Given the description of an element on the screen output the (x, y) to click on. 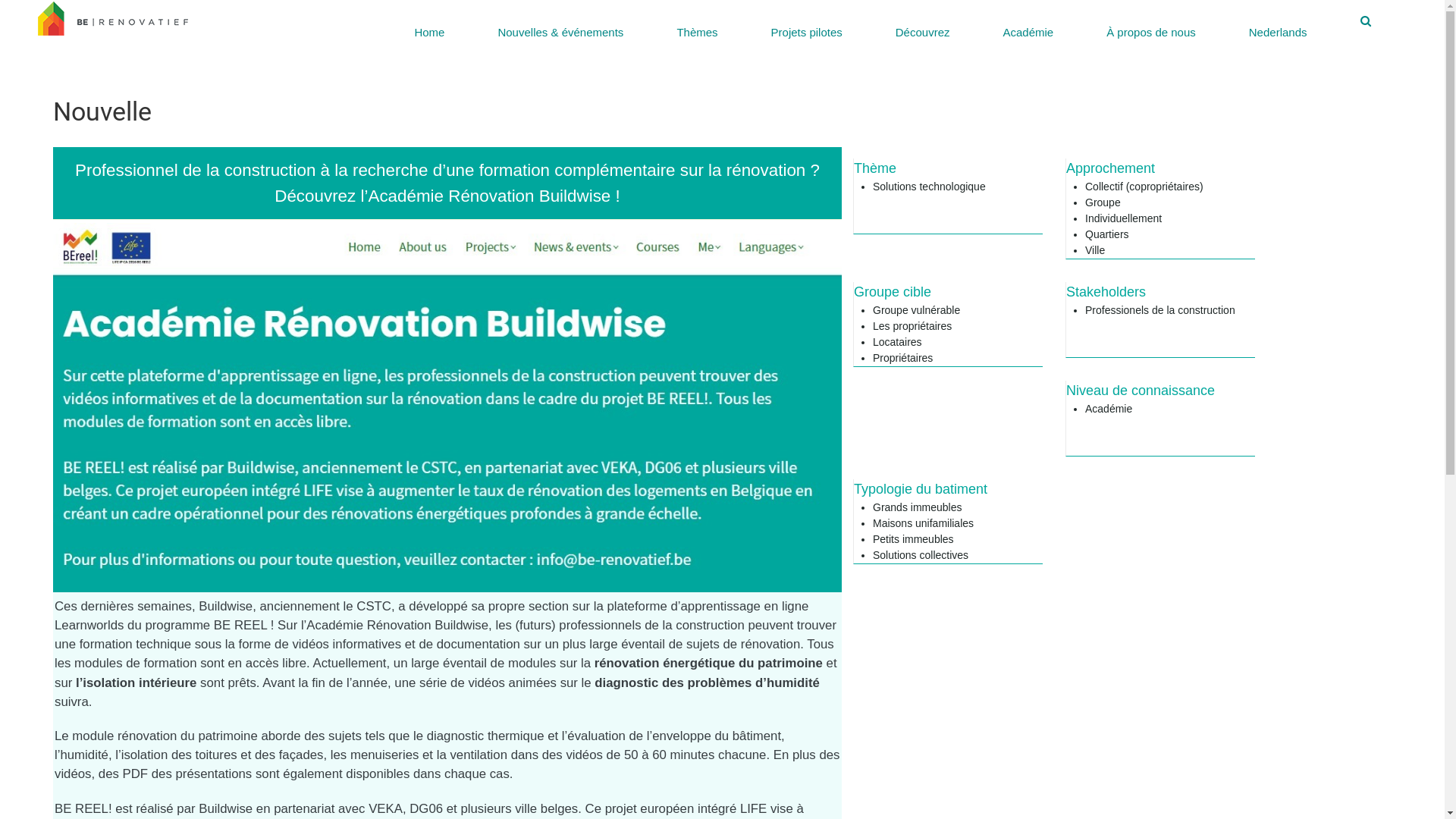
Projets pilotes Element type: text (806, 25)
Home Element type: text (429, 25)
Recherche Element type: hover (1365, 20)
Nederlands Element type: text (1277, 25)
